Given the description of an element on the screen output the (x, y) to click on. 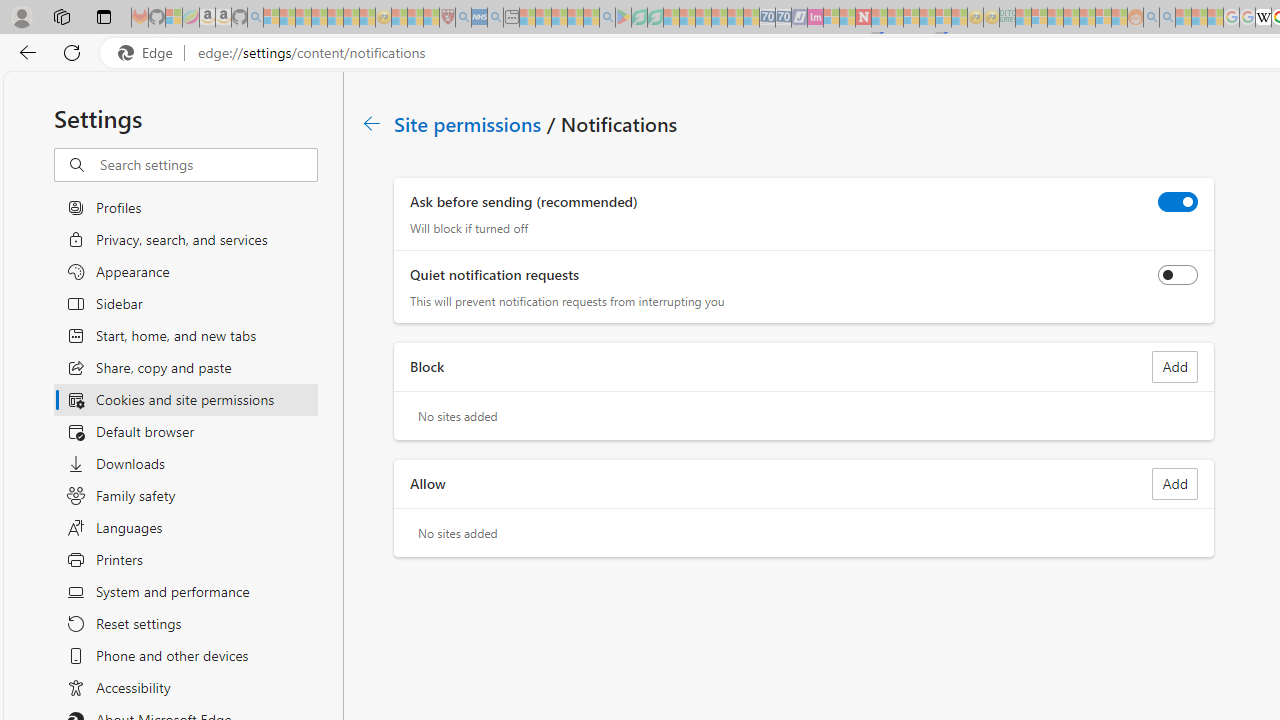
Add site to Block list (1175, 367)
Go back to Site permissions page. (372, 123)
Microsoft account | Privacy - Sleeping (1039, 17)
Quiet notification requests (1178, 274)
list of asthma inhalers uk - Search - Sleeping (463, 17)
NCL Adult Asthma Inhaler Choice Guideline - Sleeping (479, 17)
